Given the description of an element on the screen output the (x, y) to click on. 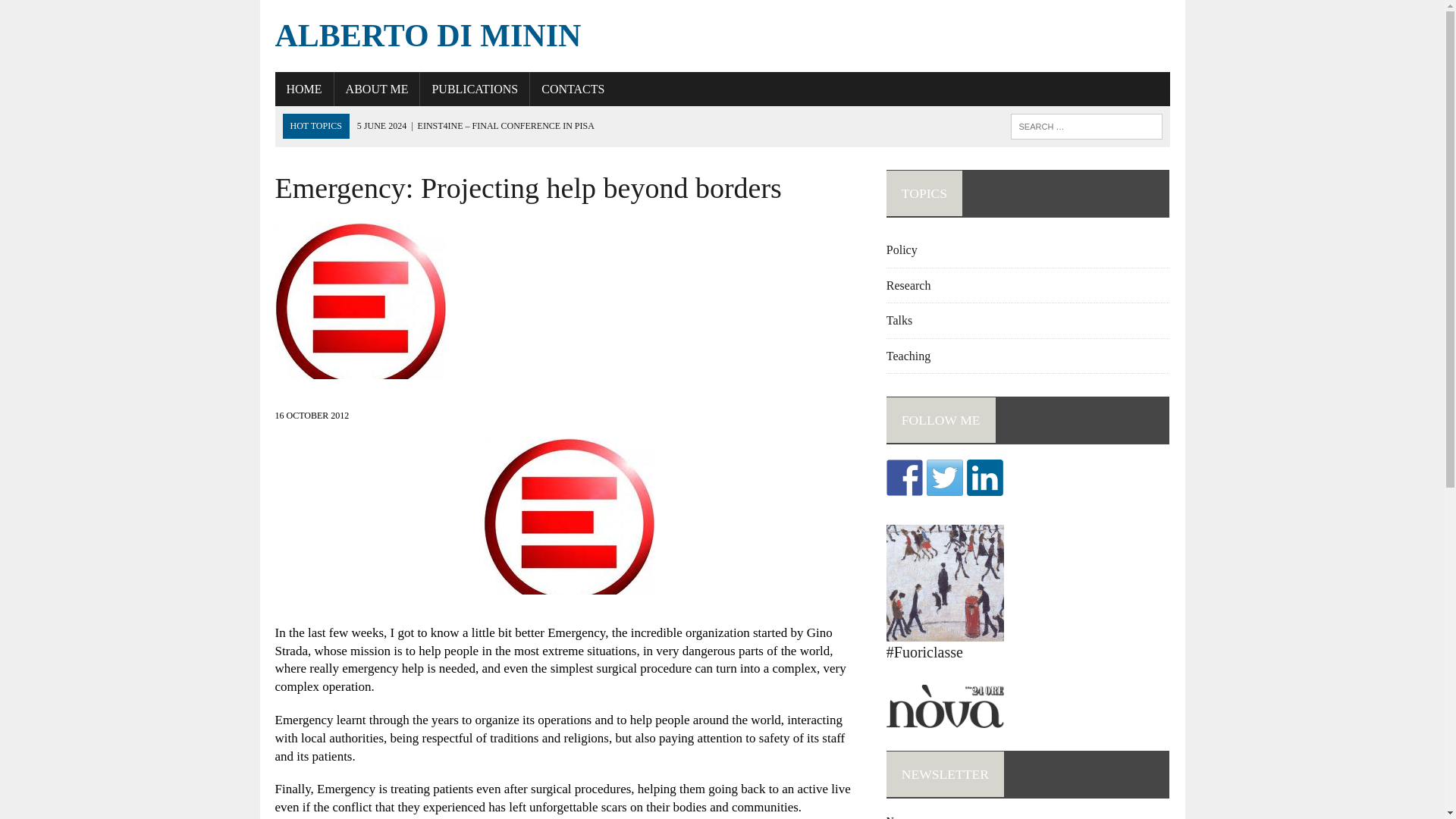
Find me on LinkedIn (984, 477)
CONTACTS (572, 89)
PUBLICATIONS (474, 89)
Alberto Di Minin (722, 35)
ABOUT ME (377, 89)
Follow me on Facebook (904, 477)
Search (75, 14)
ALBERTO DI MININ (722, 35)
Emergency Logo (568, 523)
Talks (899, 319)
